Given the description of an element on the screen output the (x, y) to click on. 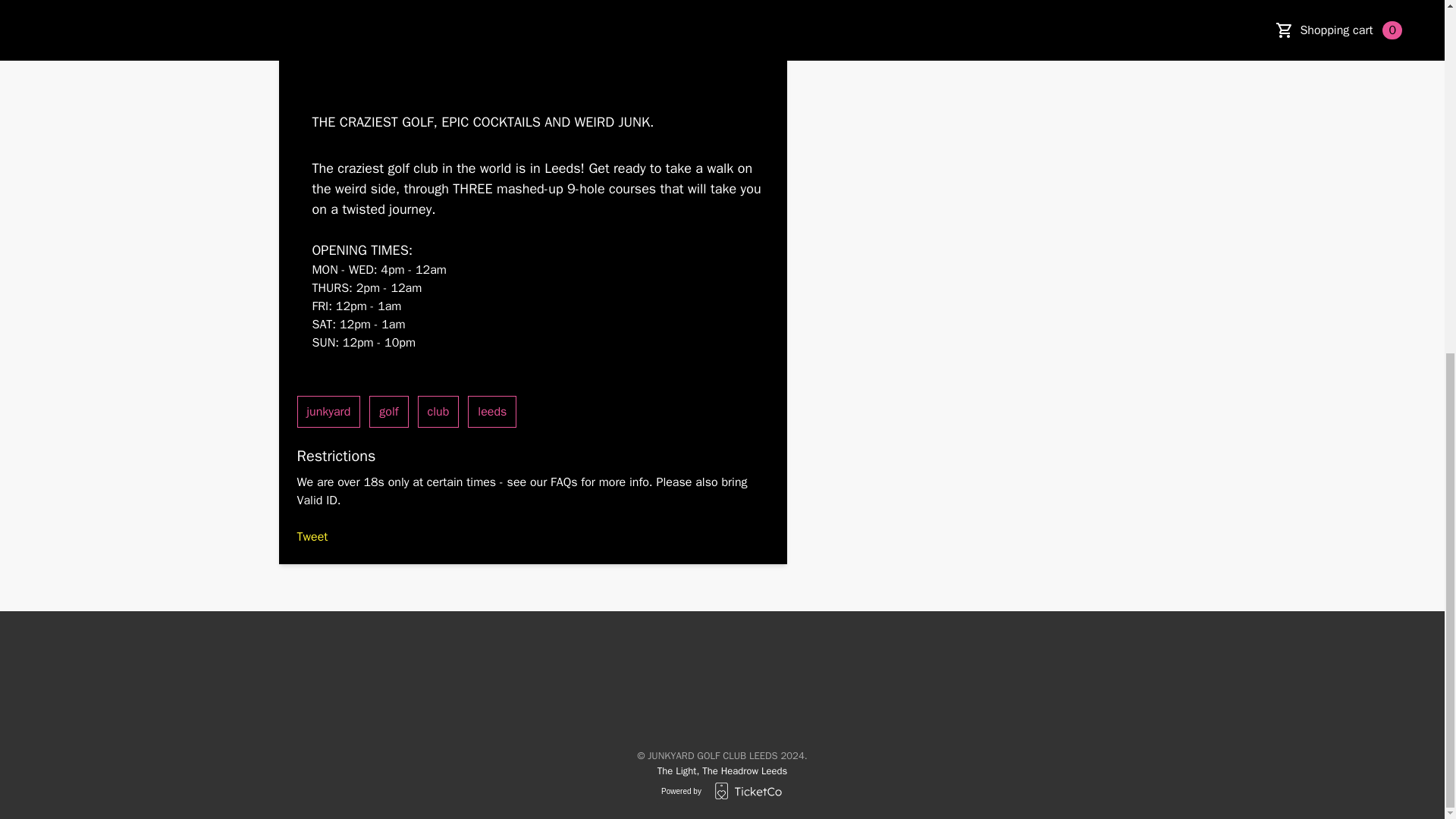
Tweet (313, 536)
Instagram (630, 671)
Facebook (584, 671)
